Given the description of an element on the screen output the (x, y) to click on. 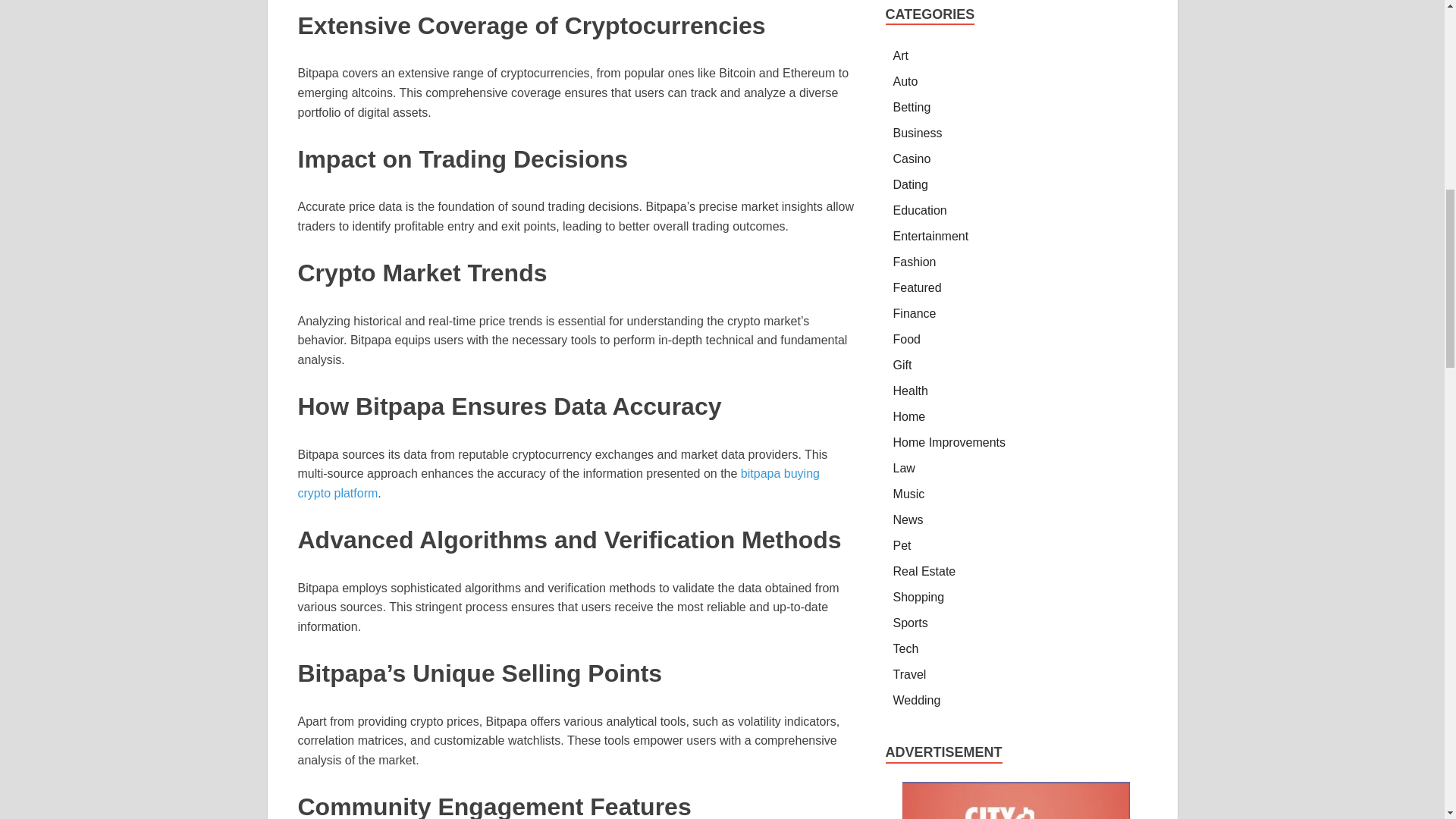
bitpapa buying crypto platform (557, 482)
